Given the description of an element on the screen output the (x, y) to click on. 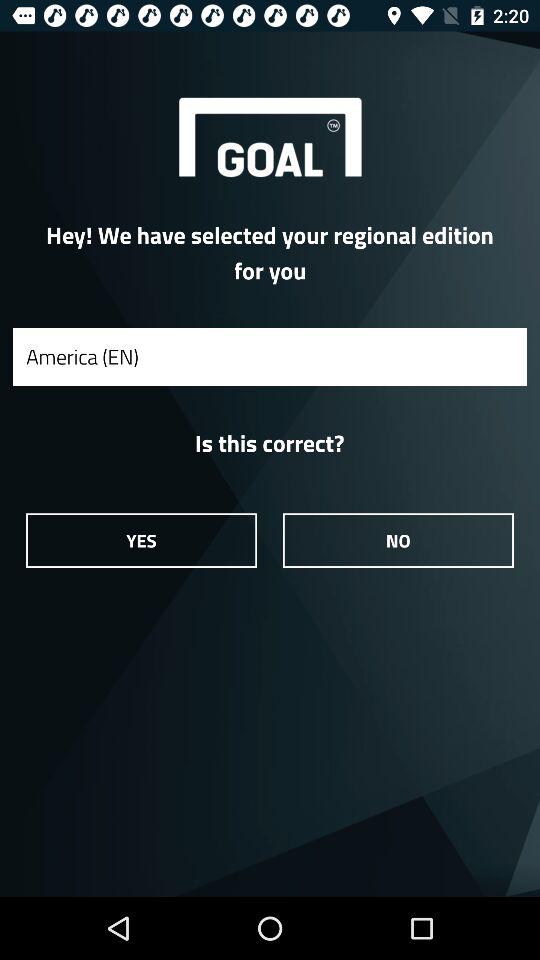
choose icon next to the yes item (398, 540)
